Given the description of an element on the screen output the (x, y) to click on. 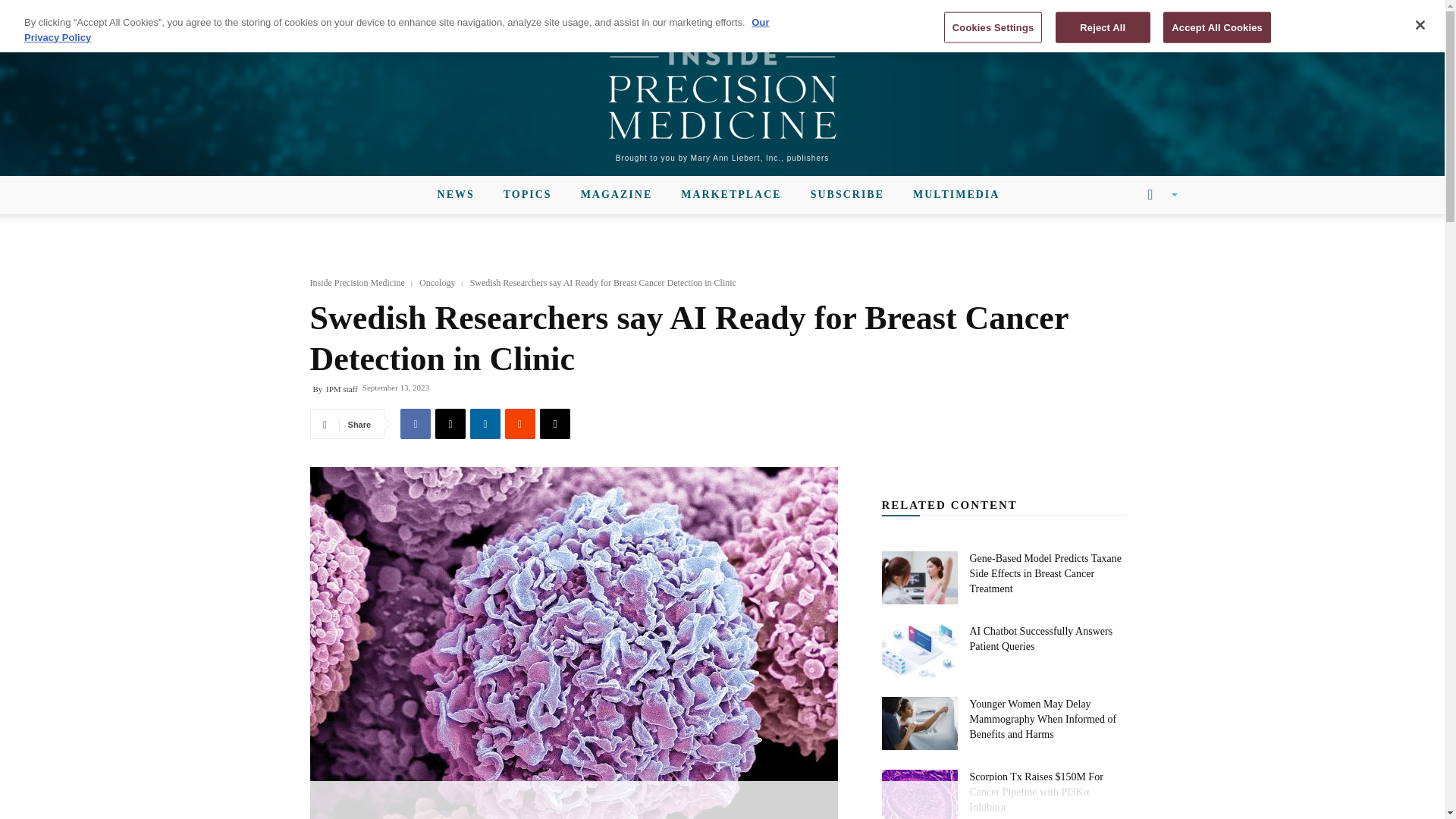
Linkedin (303, 10)
Facebook (277, 10)
Twitter (328, 10)
Inside Precision Medicine (721, 92)
Update Preferences (1142, 10)
